Given the description of an element on the screen output the (x, y) to click on. 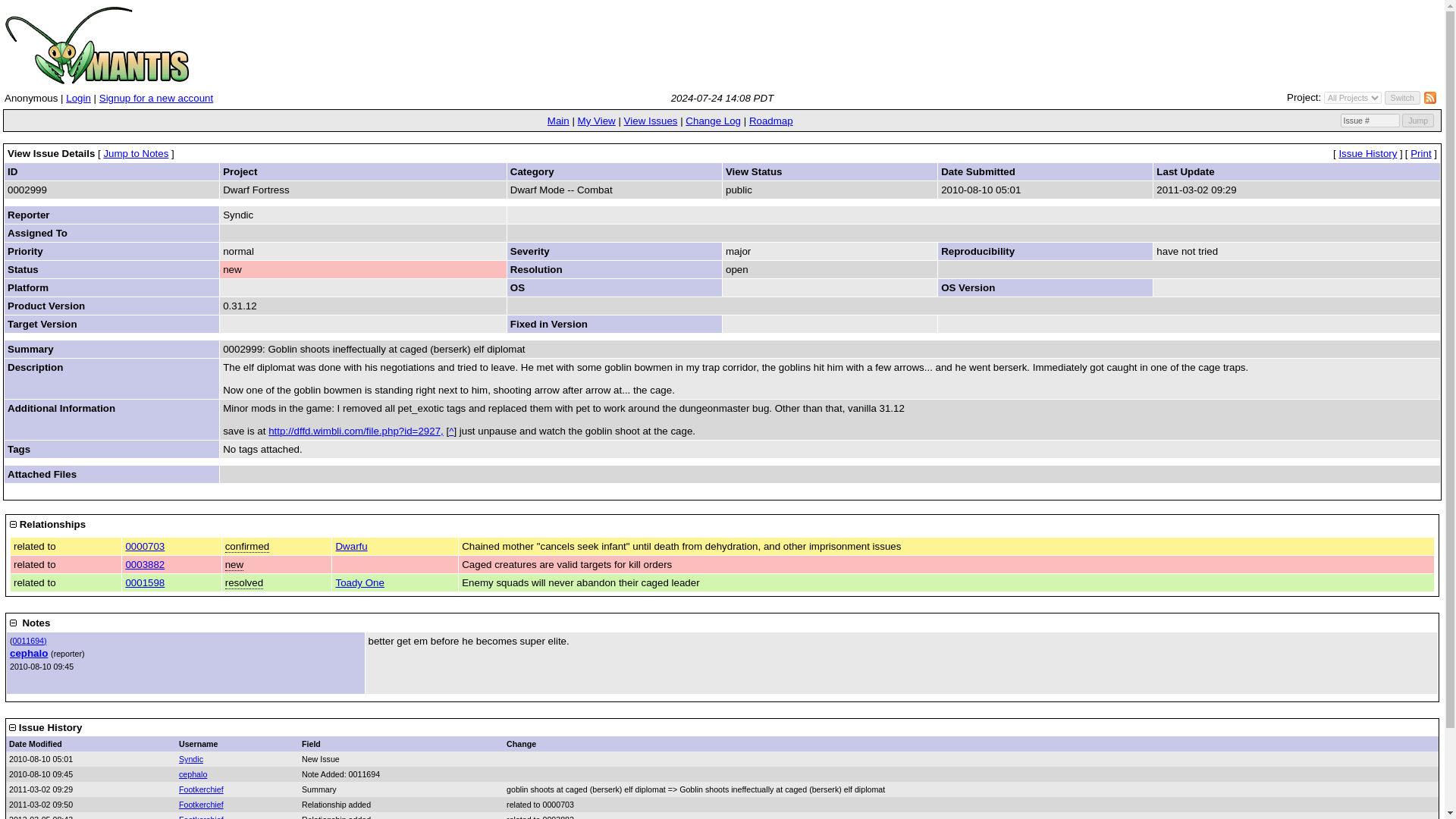
Issue History (1367, 153)
cephalo (29, 653)
0003882 (144, 564)
View Issues (651, 120)
Footkerchief (201, 788)
fixed (244, 582)
Jump to Notes (135, 153)
Attached Files (42, 473)
Switch (1402, 97)
My View (596, 120)
cephalo (192, 773)
Dwarfu (350, 546)
Toady One (359, 582)
open (247, 546)
Roadmap (771, 120)
